Given the description of an element on the screen output the (x, y) to click on. 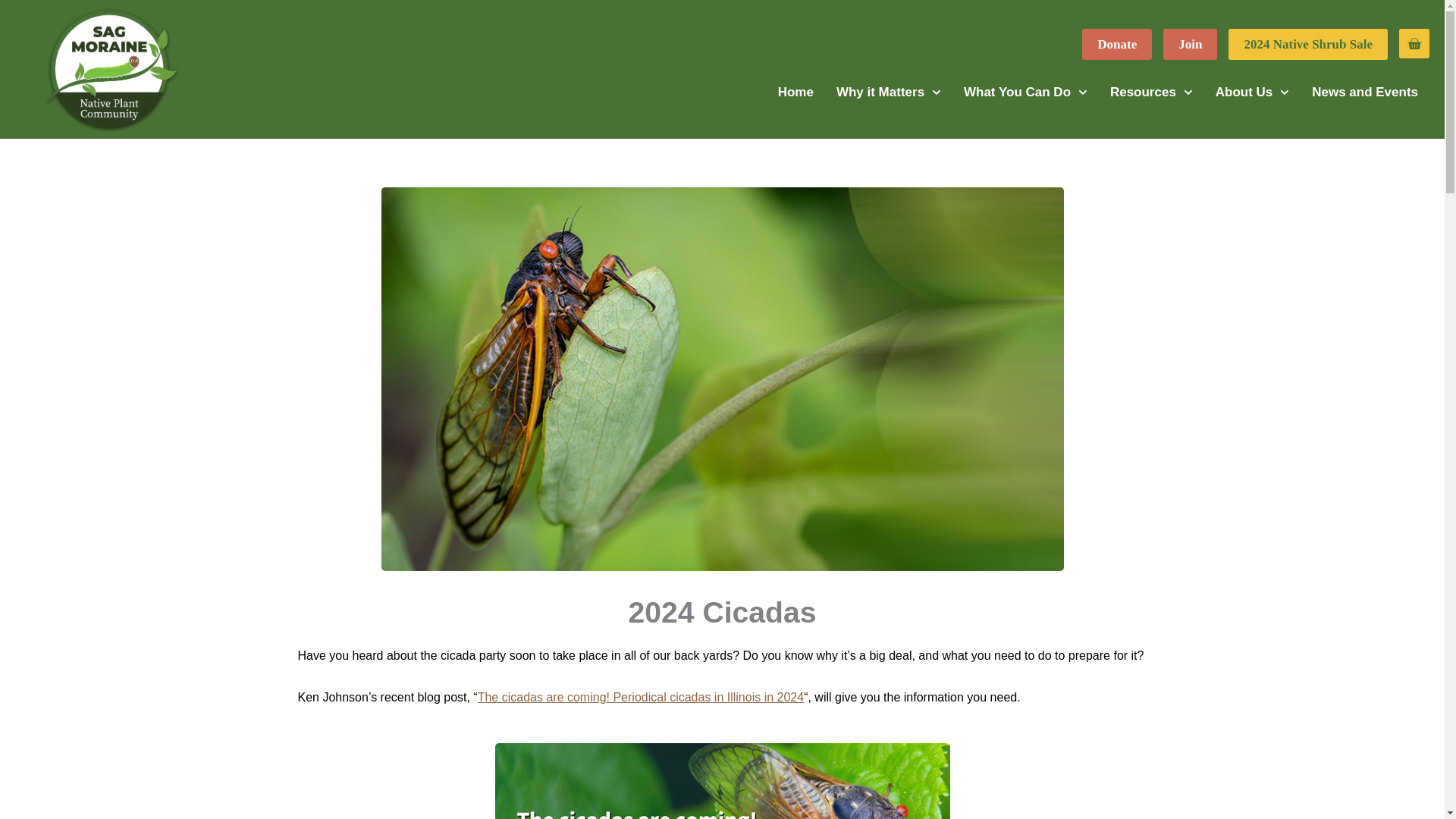
Why it Matters (888, 92)
About Us (1252, 92)
2024 Native Shrub Sale (1307, 43)
Resources (1151, 92)
Join (1190, 43)
Home (796, 92)
News and Events (1364, 92)
Cart (1414, 43)
What You Can Do (1025, 92)
Donate (1116, 43)
